Given the description of an element on the screen output the (x, y) to click on. 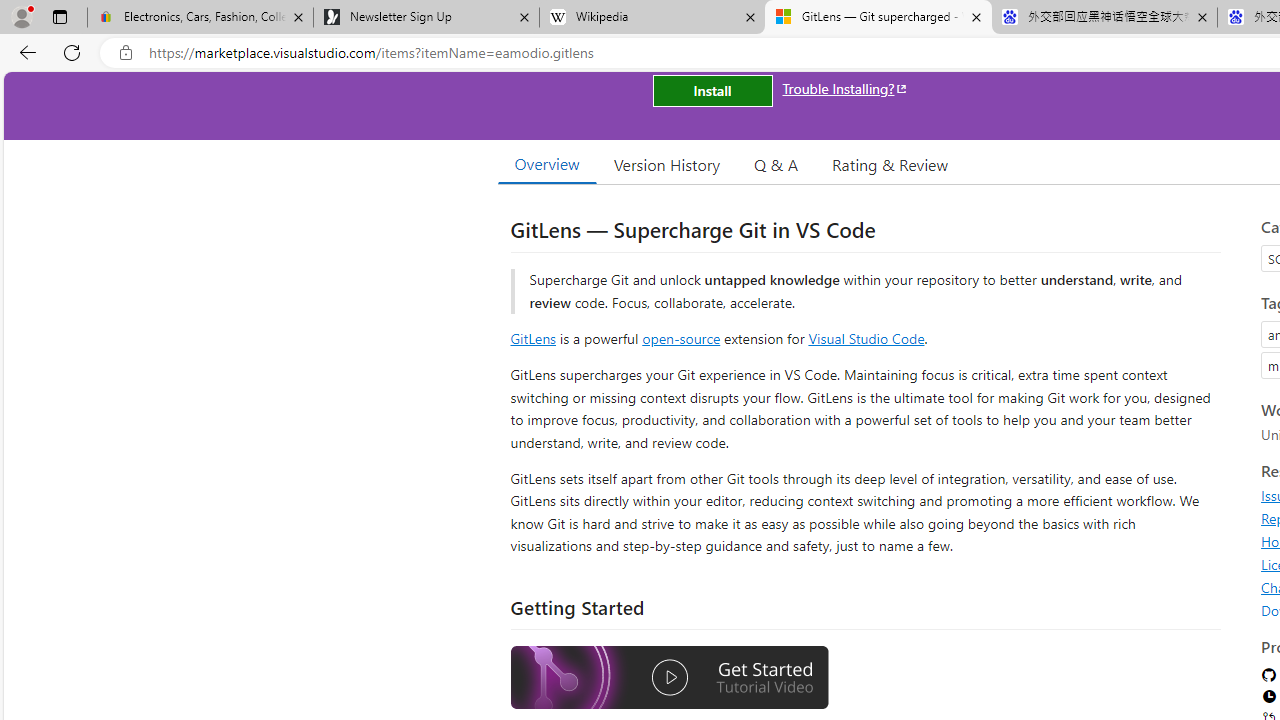
Install (712, 90)
Rating & Review (890, 164)
Watch the GitLens Getting Started video (669, 678)
Overview (546, 164)
Watch the GitLens Getting Started video (669, 679)
Q & A (776, 164)
Version History (667, 164)
